Given the description of an element on the screen output the (x, y) to click on. 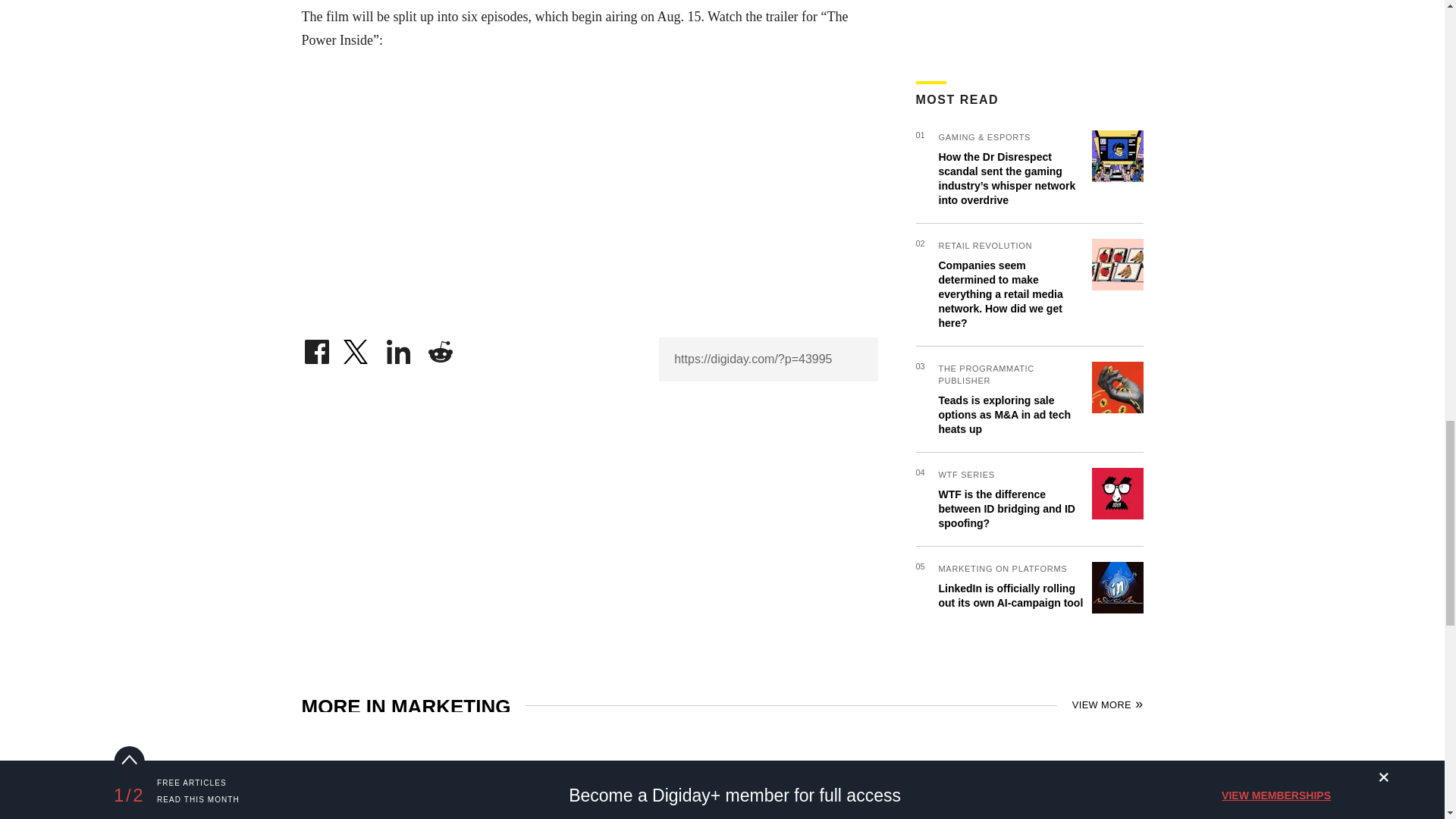
Share on Twitter (357, 347)
Share on Reddit (440, 347)
Share on LinkedIn (398, 347)
Share on Facebook (316, 347)
